Given the description of an element on the screen output the (x, y) to click on. 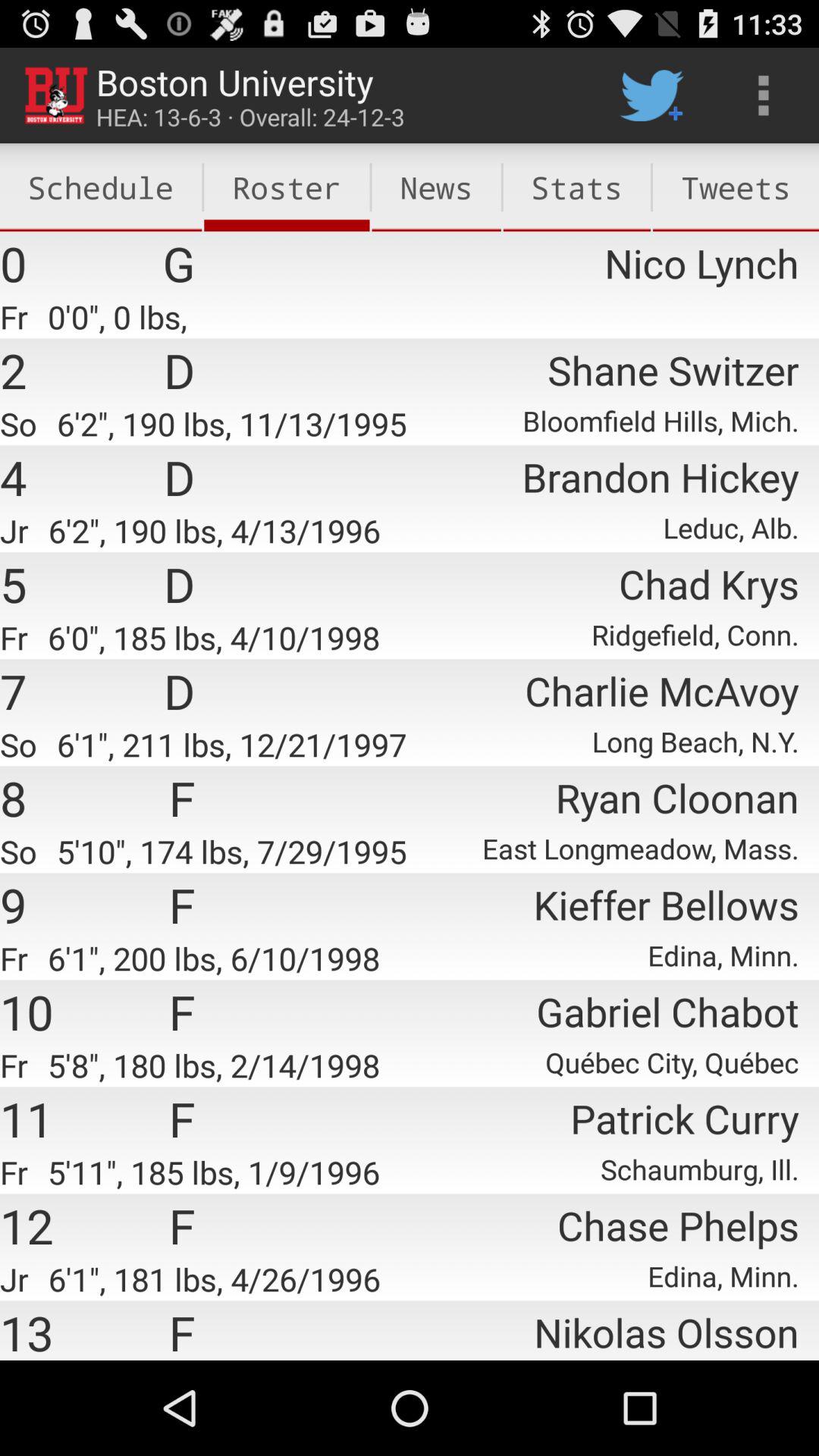
open the icon above 0 app (100, 187)
